Given the description of an element on the screen output the (x, y) to click on. 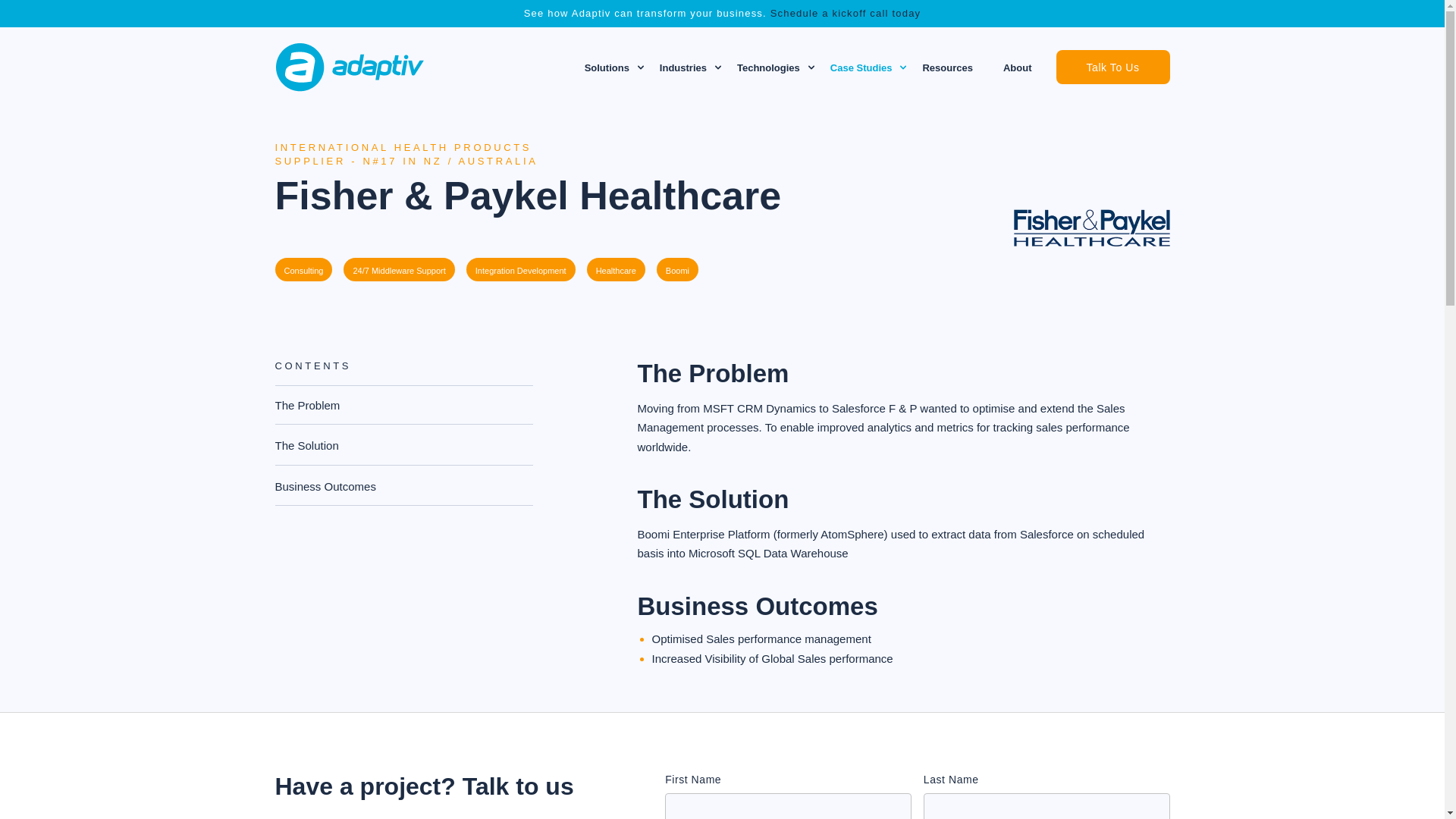
Technologies (767, 67)
Solutions (403, 432)
The Solution (606, 67)
The Problem (306, 445)
Business Outcomes (307, 404)
Talk To Us (325, 486)
Case Studies (1112, 66)
Schedule a kickoff call today (860, 67)
Industries (845, 12)
About (682, 67)
Resources (1017, 67)
